Given the description of an element on the screen output the (x, y) to click on. 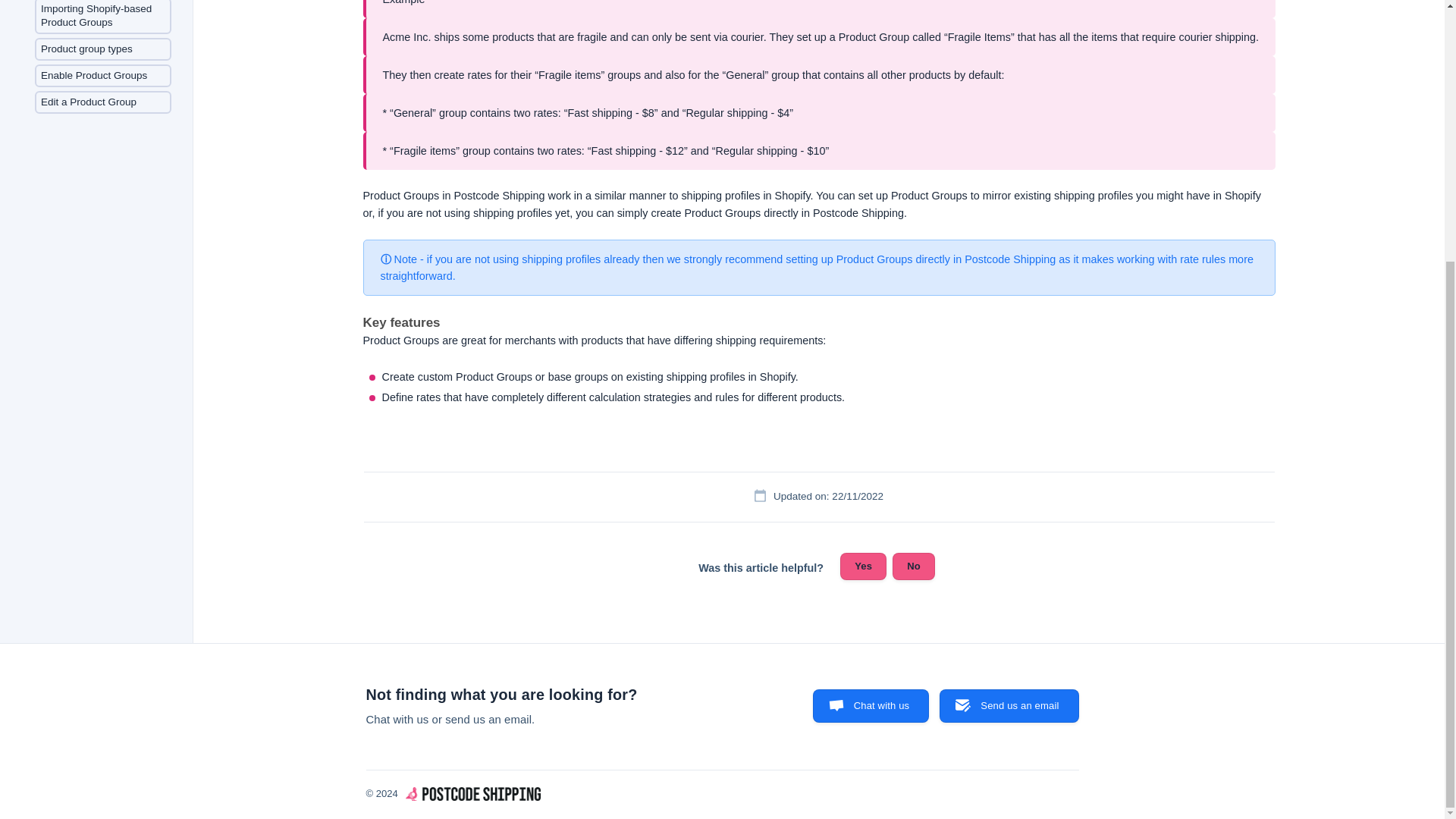
Enable Product Groups (102, 75)
Importing Shopify-based Product Groups (102, 17)
No (913, 565)
Product group types (102, 48)
Yes (863, 565)
Edit a Product Group (102, 101)
Send us an email (1008, 705)
Chat with us (871, 705)
